Given the description of an element on the screen output the (x, y) to click on. 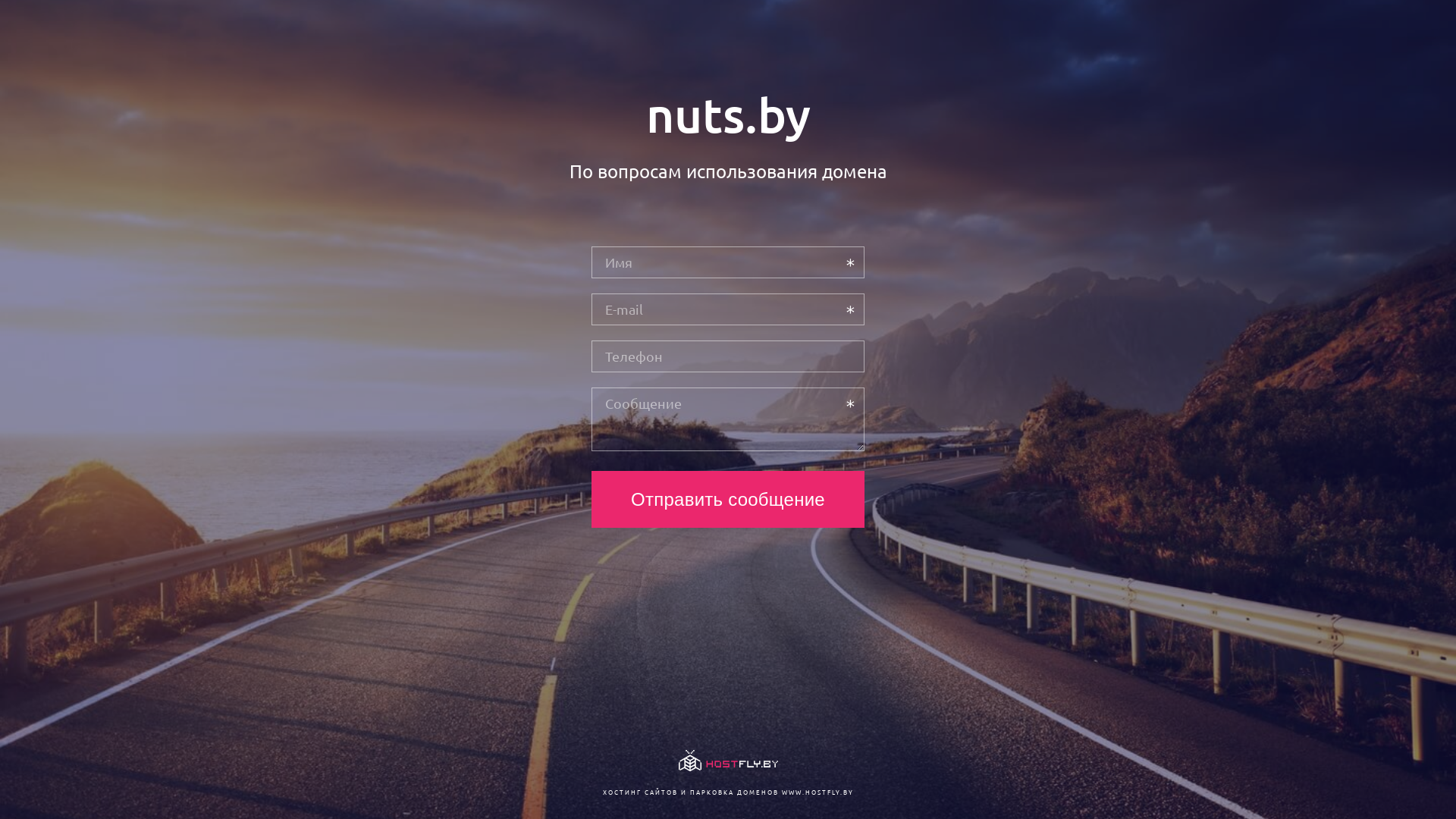
WWW.HOSTFLY.BY Element type: text (817, 791)
